Given the description of an element on the screen output the (x, y) to click on. 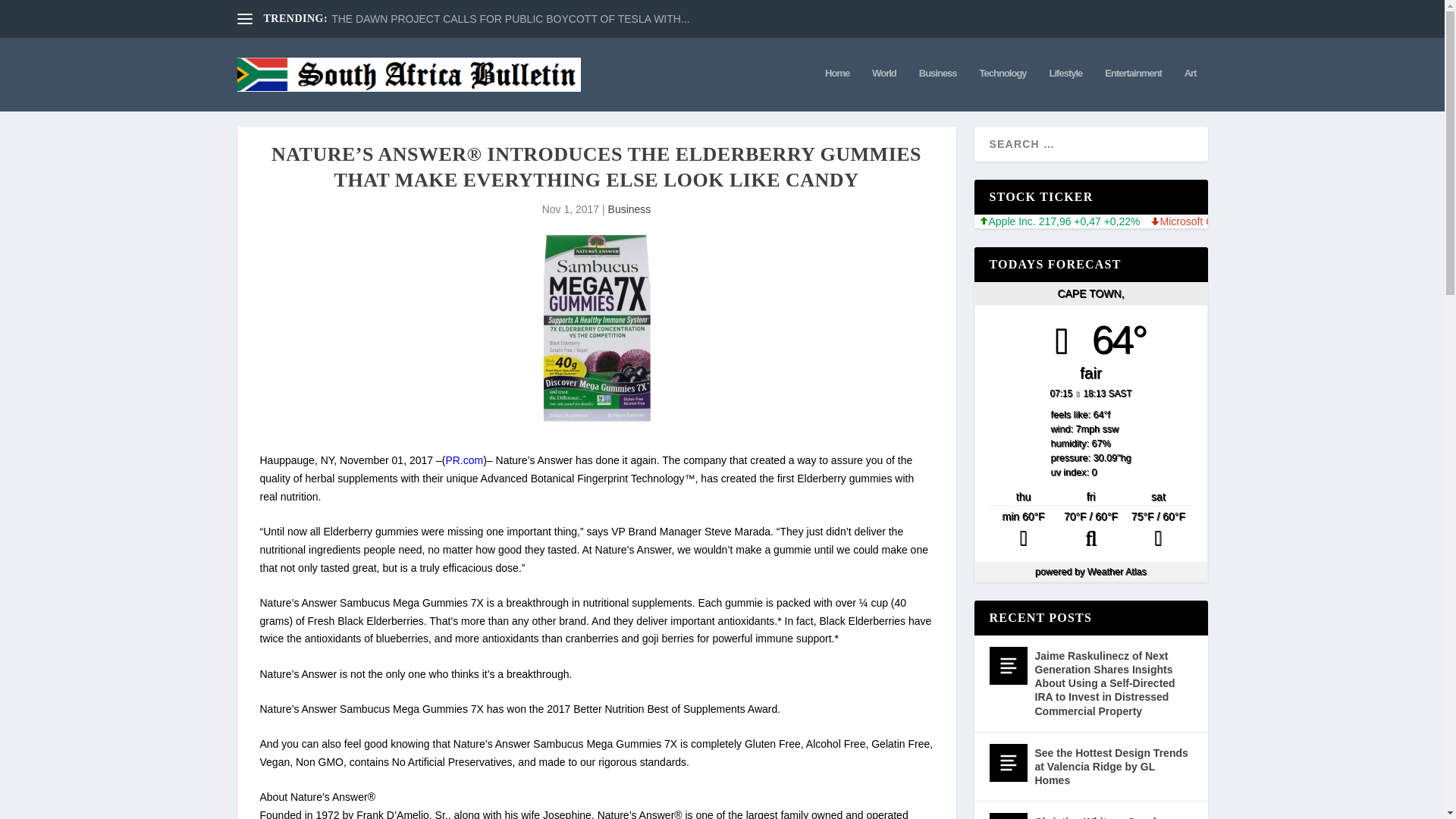
Business (629, 209)
Mostly Cloudy (1023, 530)
THE DAWN PROJECT CALLS FOR PUBLIC BOYCOTT OF TESLA WITH... (509, 19)
Technology (1002, 89)
PR.com (464, 460)
Entertainment (1132, 89)
